Given the description of an element on the screen output the (x, y) to click on. 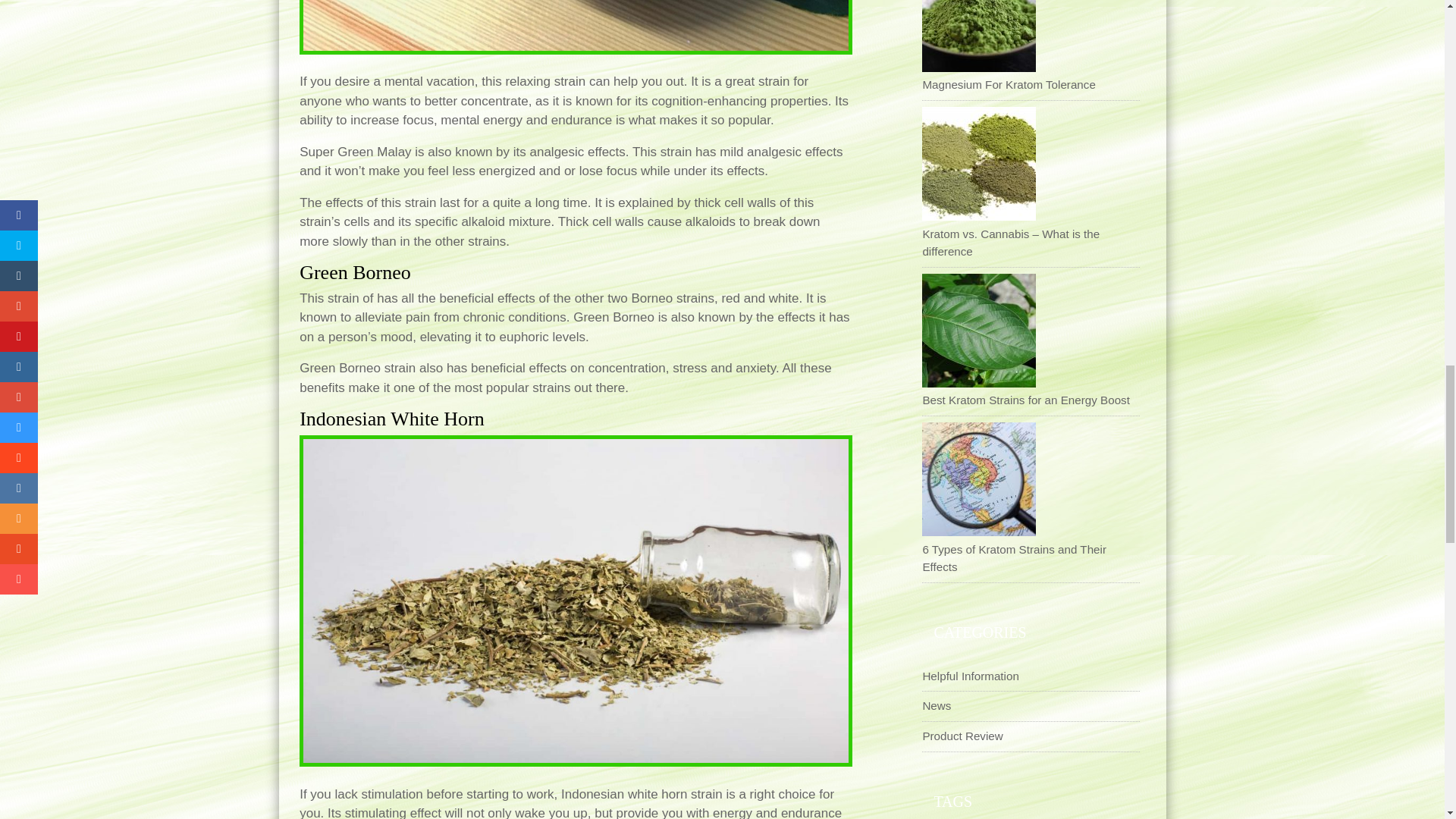
Best Kratom Strains for an Energy Boost (978, 330)
6 Types of Kratom Strains and Their Effects (978, 479)
Magnesium For Kratom Tolerance (978, 36)
